Given the description of an element on the screen output the (x, y) to click on. 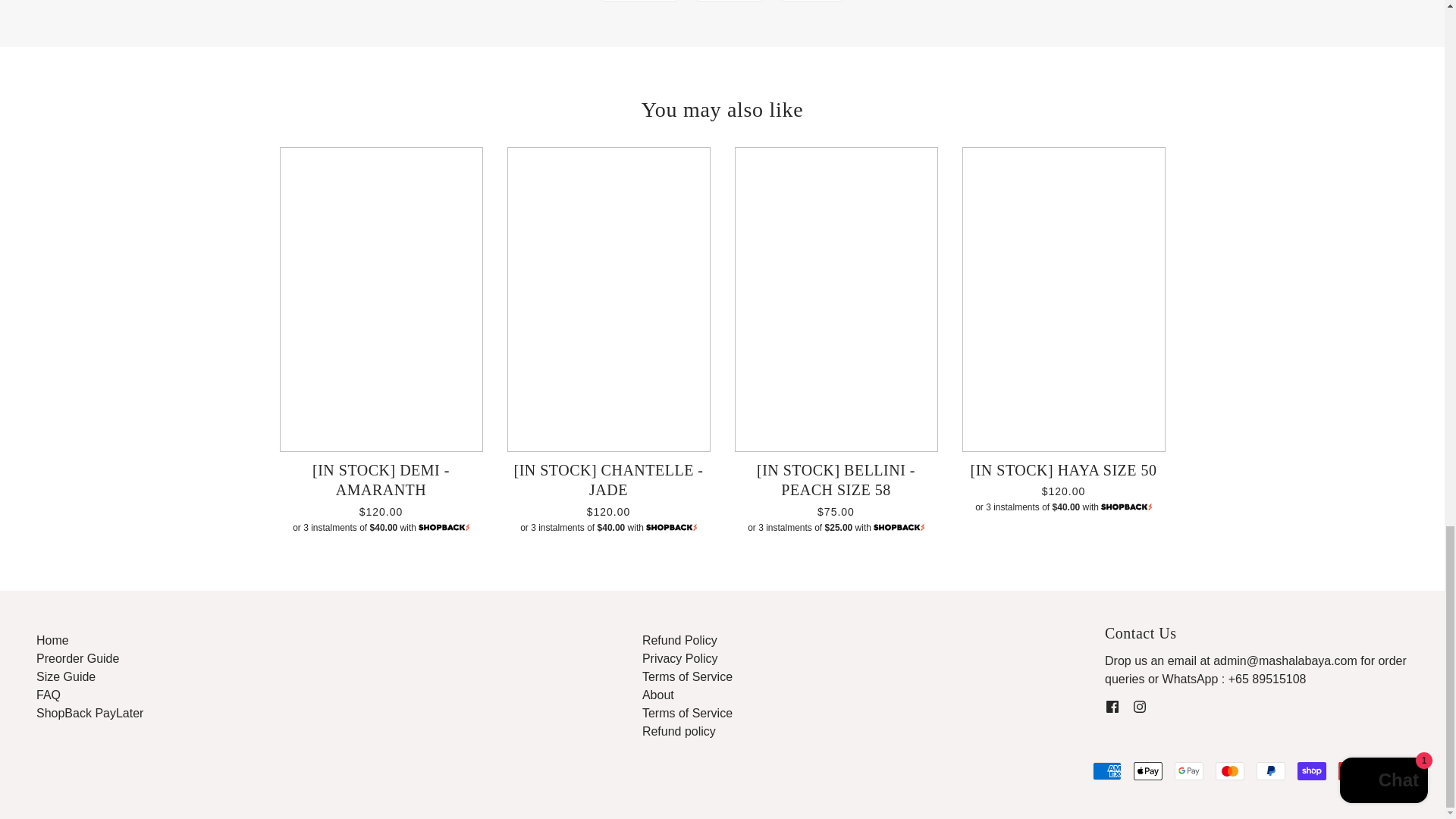
Privacy Policy (679, 658)
American Express (1107, 771)
PayPal (1270, 771)
Refund Policy (679, 640)
Refund policy (679, 730)
Tweet (639, 0)
Pin (811, 0)
ShopBack PayLater (89, 712)
Like (728, 0)
Mastercard (1229, 771)
Terms of Service (687, 712)
Shop Pay (1311, 771)
Preorder Guide (77, 658)
FAQ (48, 694)
Home (52, 640)
